Given the description of an element on the screen output the (x, y) to click on. 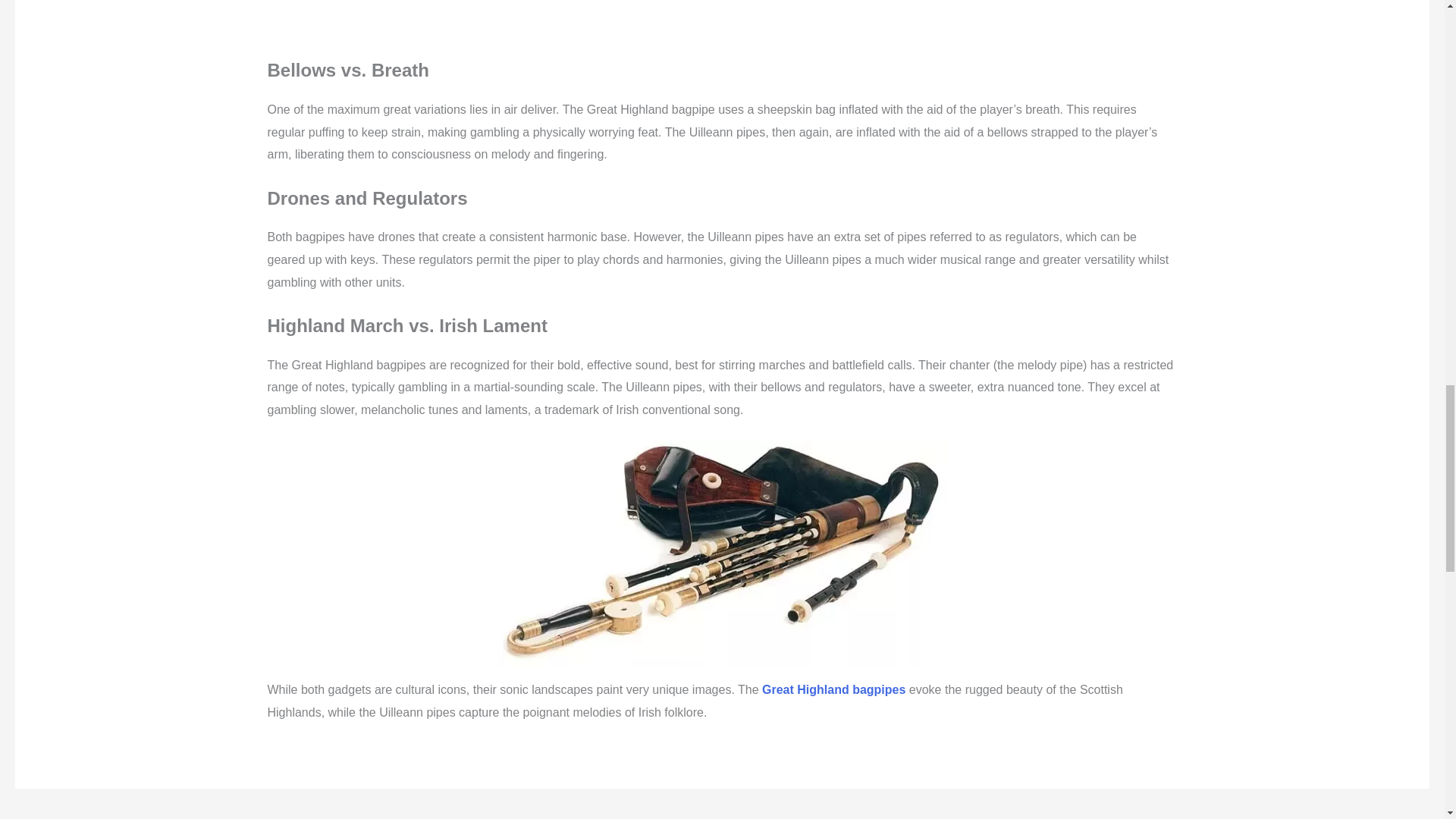
Great Highland bagpipes (833, 689)
What Cultures Use Irish Bagpipes? (61, 816)
Common issues with Irish Bagpipe and how to fix them? (1393, 816)
